Given the description of an element on the screen output the (x, y) to click on. 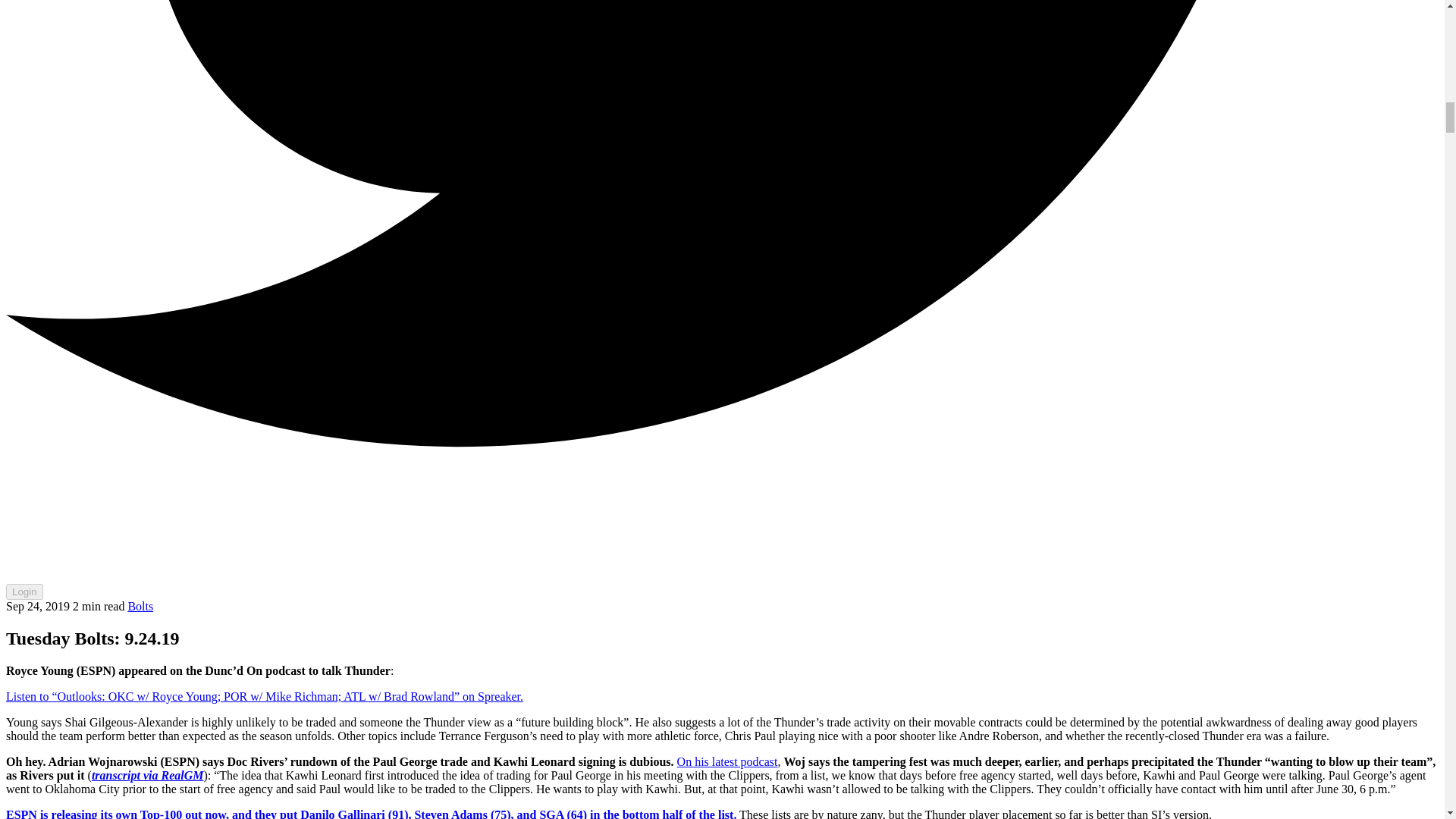
On his latest podcast (727, 761)
transcript via RealGM (147, 775)
Bolts (140, 605)
Login (24, 591)
